Given the description of an element on the screen output the (x, y) to click on. 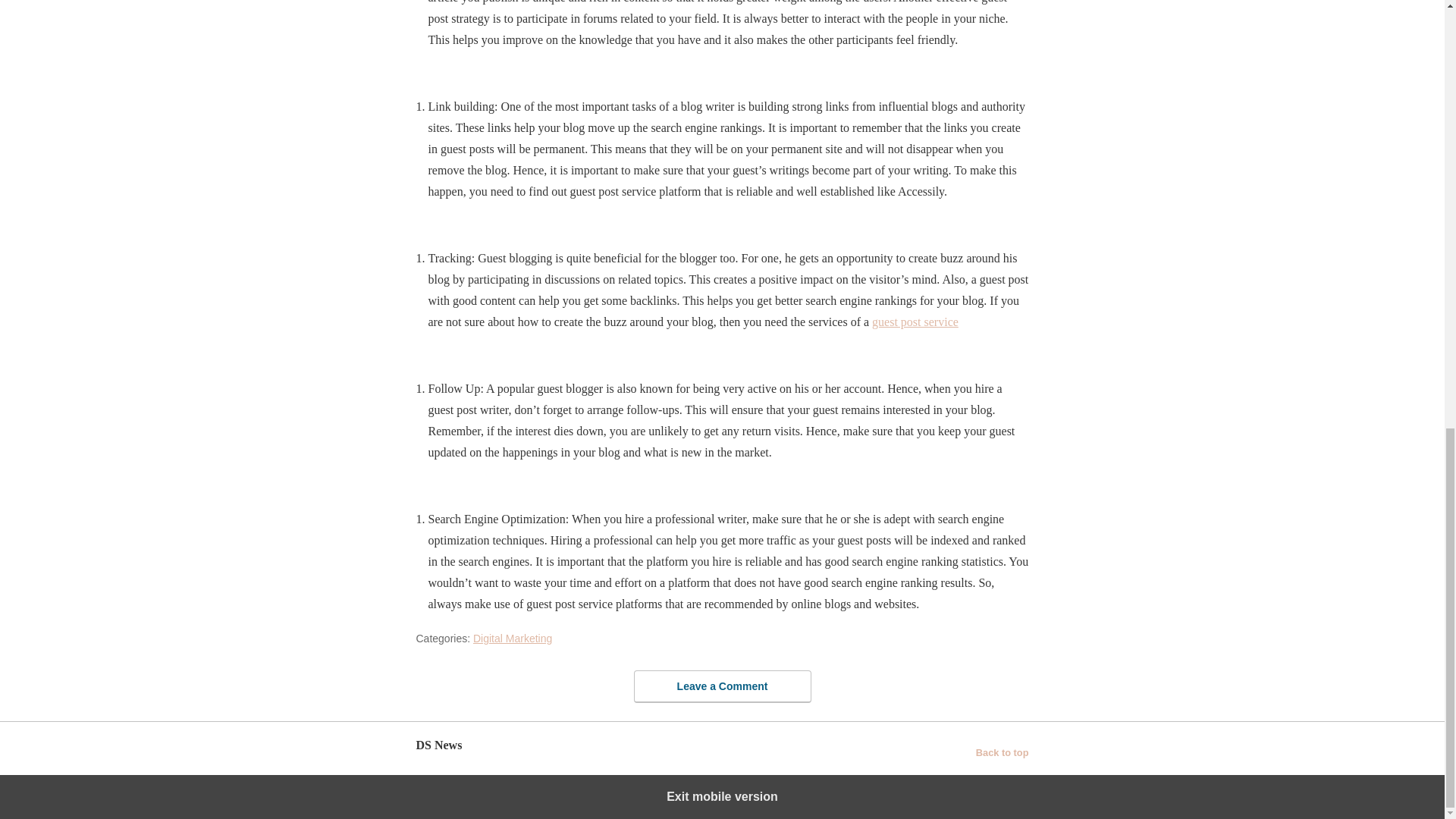
Back to top (1002, 752)
Digital Marketing (512, 638)
guest post service (915, 321)
Leave a Comment (721, 686)
